Given the description of an element on the screen output the (x, y) to click on. 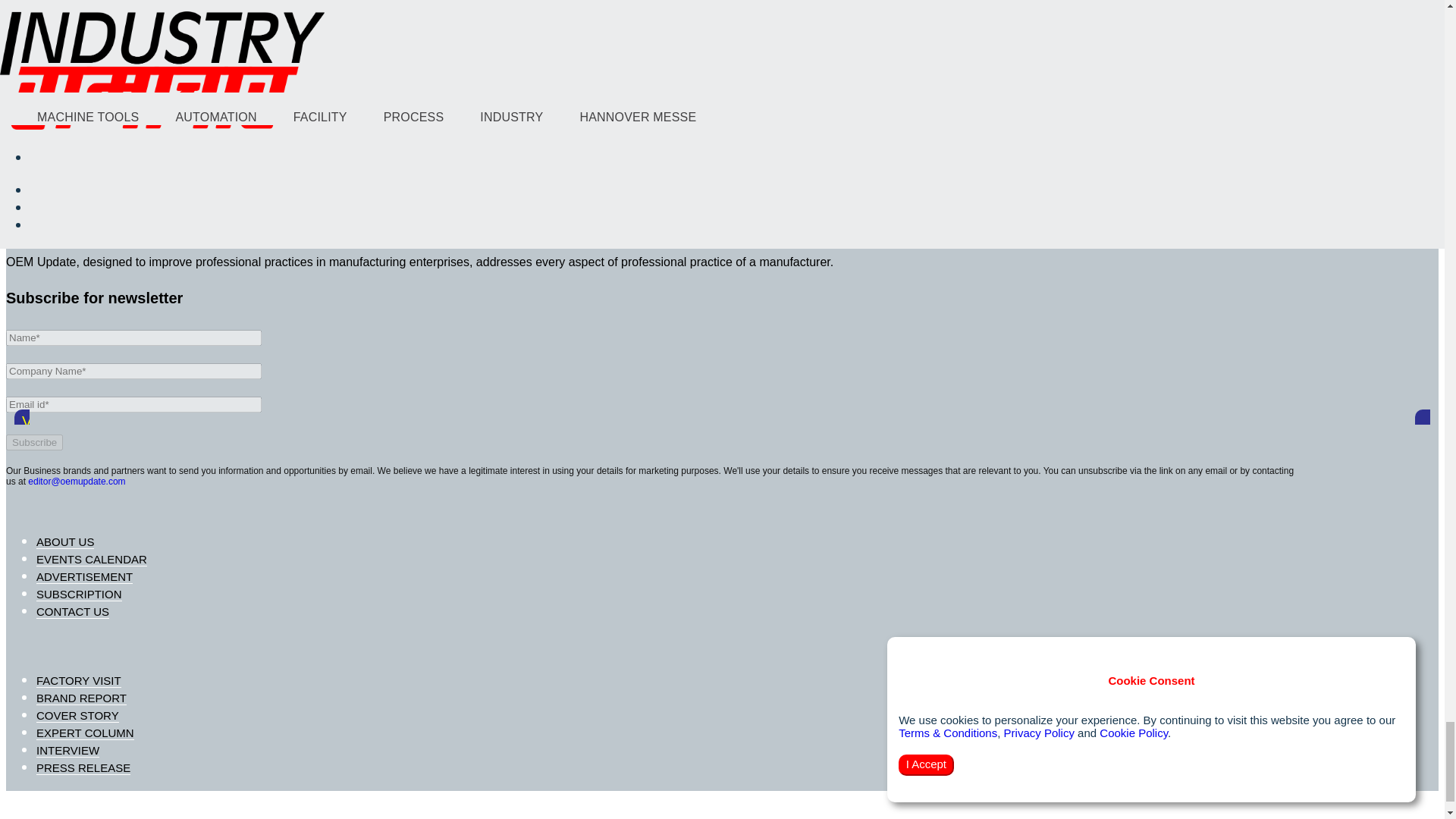
Subscribe (33, 442)
